Given the description of an element on the screen output the (x, y) to click on. 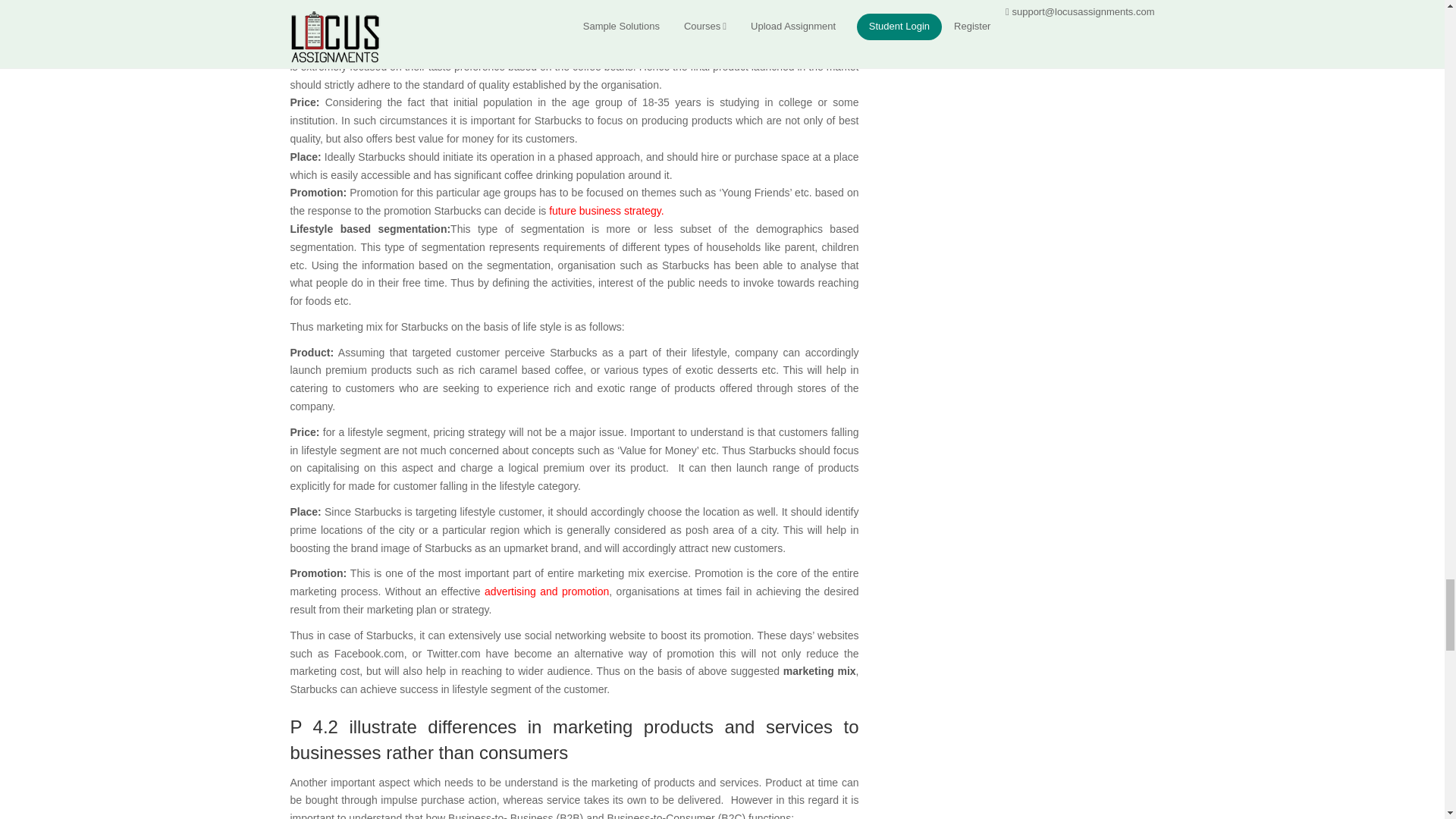
advertising and promotion (546, 591)
future business strategy. (605, 210)
